Given the description of an element on the screen output the (x, y) to click on. 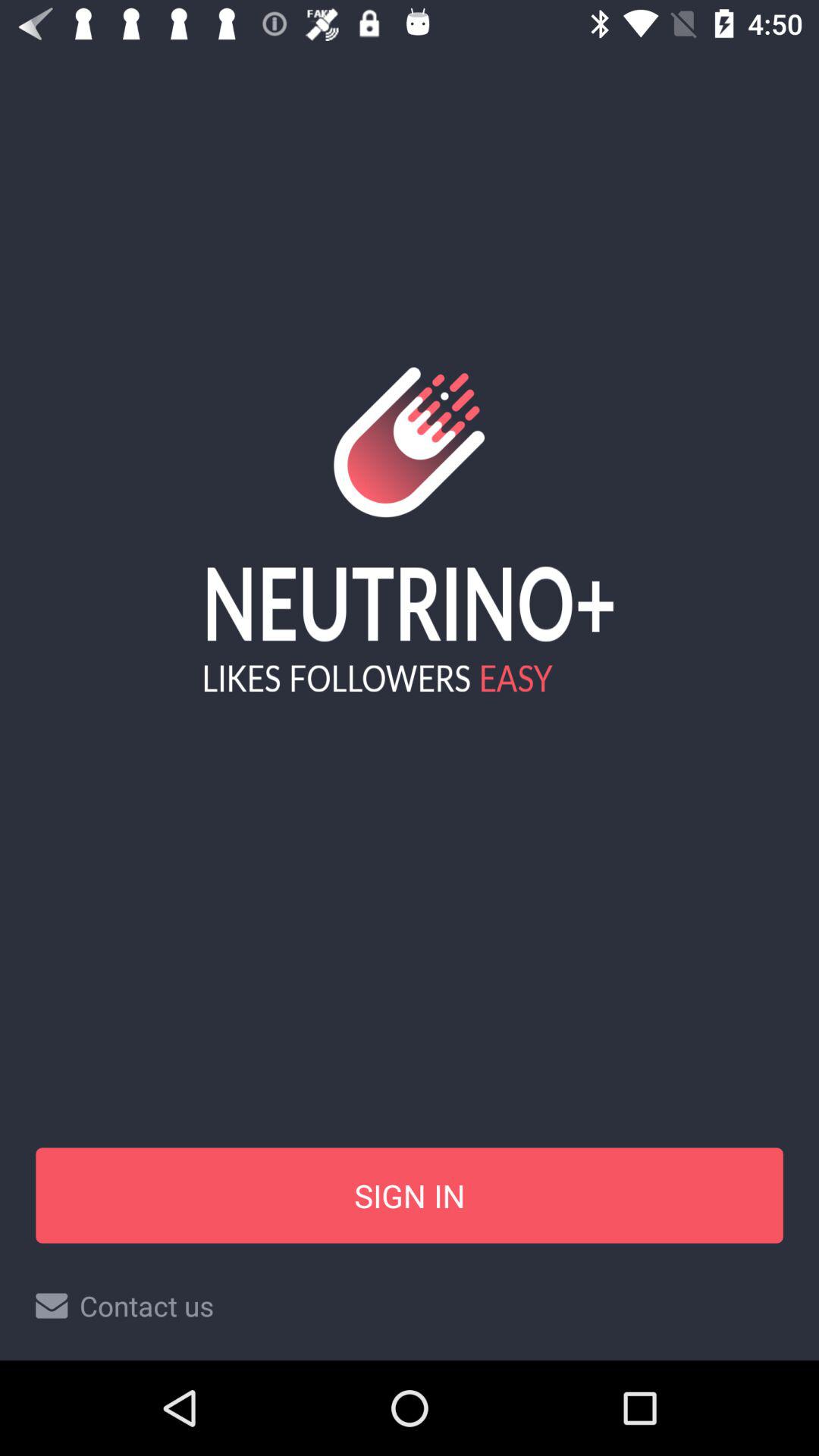
turn on the icon below likes followers easy (409, 1195)
